Given the description of an element on the screen output the (x, y) to click on. 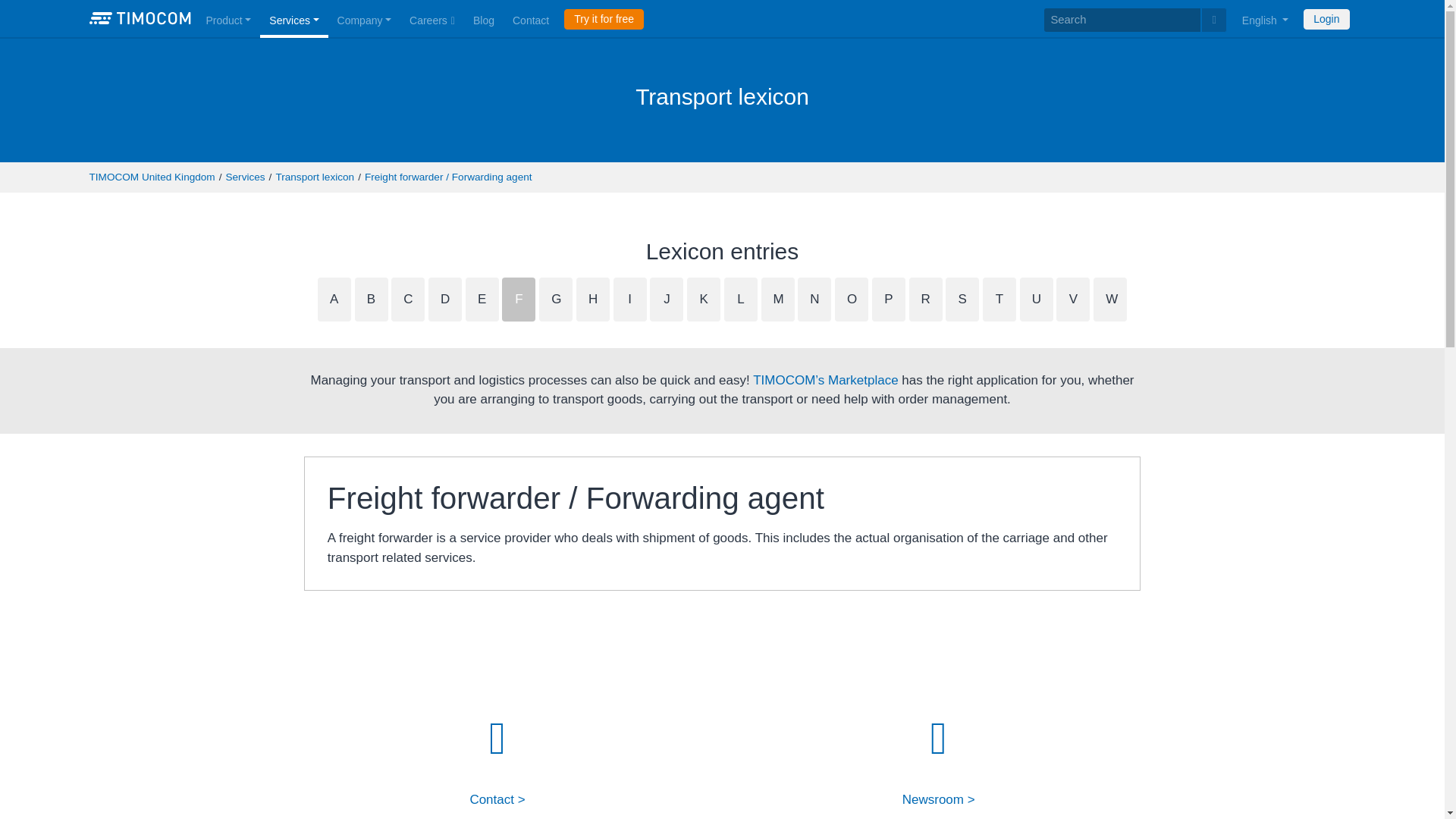
Services (293, 18)
Product (228, 18)
Company (364, 18)
